Given the description of an element on the screen output the (x, y) to click on. 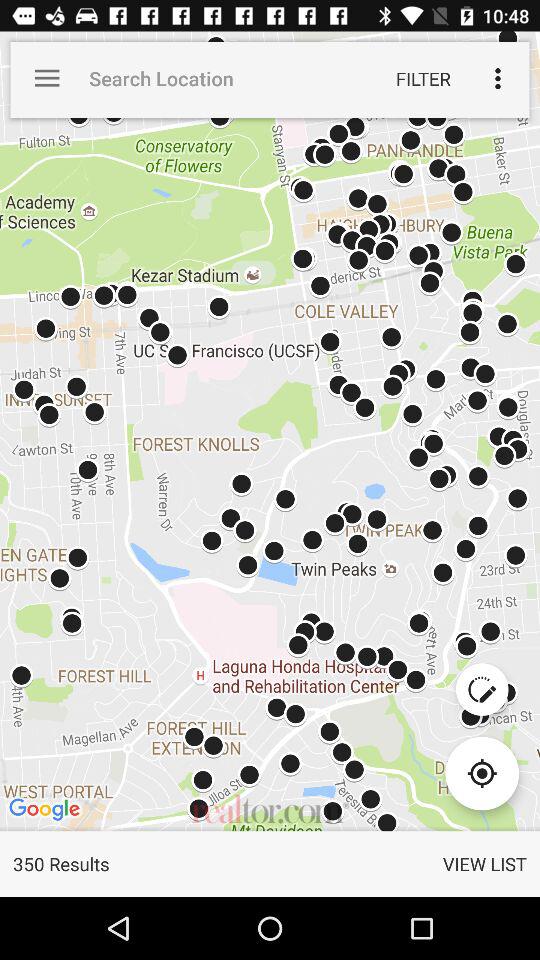
tap item to the right of filter item (497, 78)
